Given the description of an element on the screen output the (x, y) to click on. 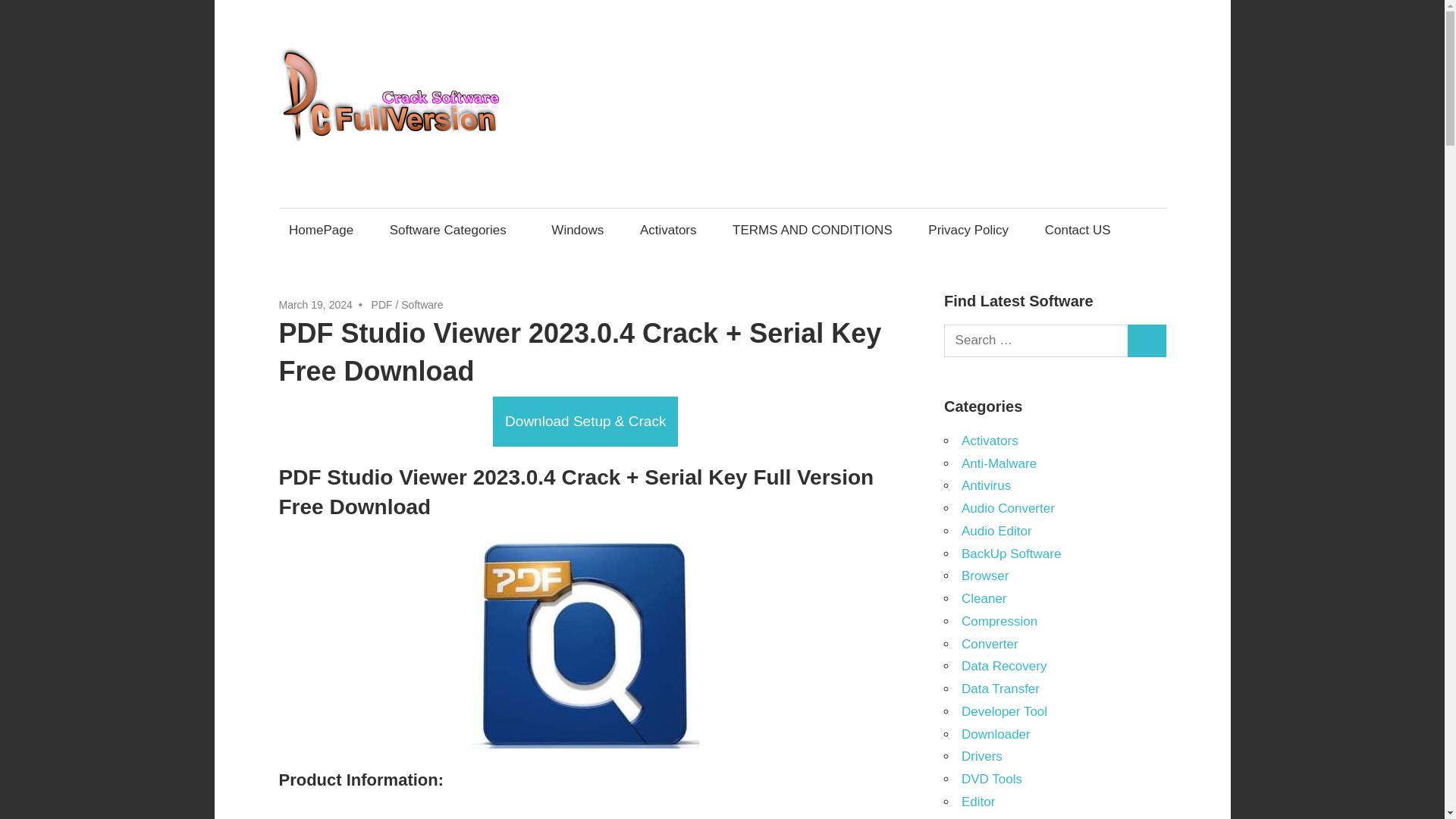
PDF (382, 304)
Contact US (1077, 230)
TERMS AND CONDITIONS (812, 230)
HomePage (321, 230)
Activators (667, 230)
March 19, 2024 (315, 304)
Software Categories (451, 230)
Privacy Policy (968, 230)
Windows (577, 230)
9:39 am (315, 304)
Software (421, 304)
